Given the description of an element on the screen output the (x, y) to click on. 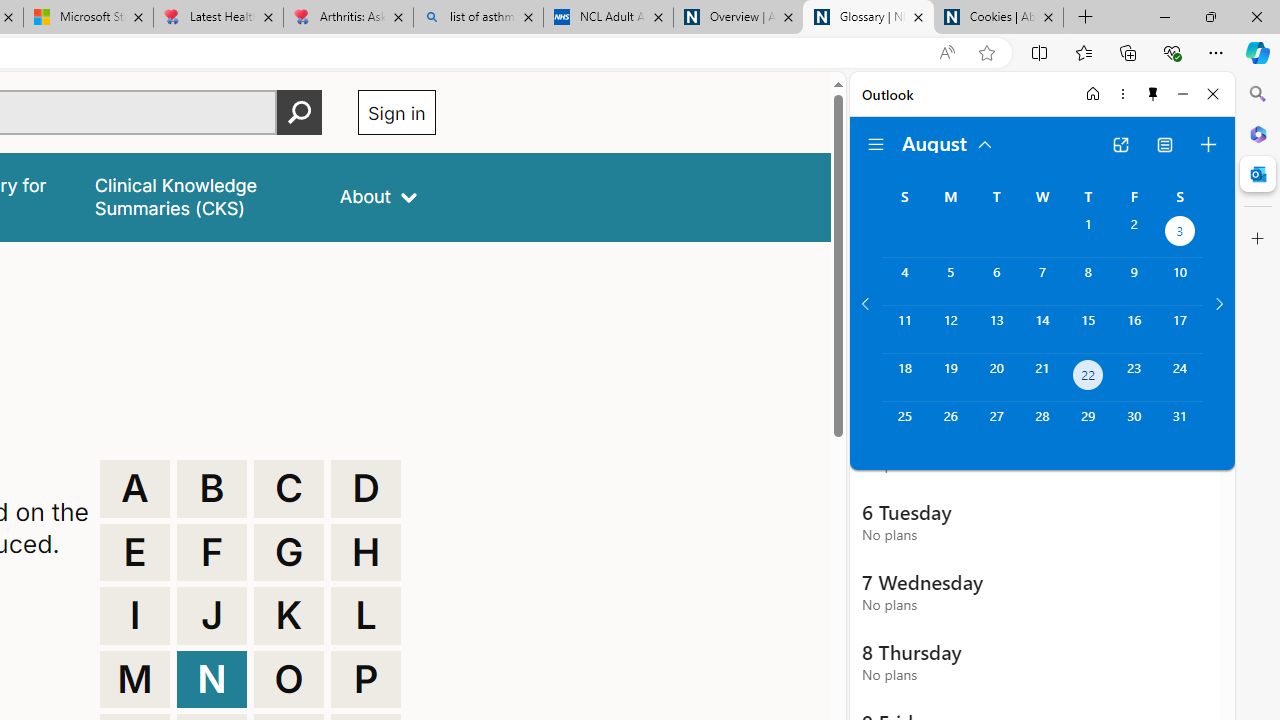
Favorites (1083, 52)
D (365, 488)
Wednesday, August 14, 2024.  (1042, 329)
